Given the description of an element on the screen output the (x, y) to click on. 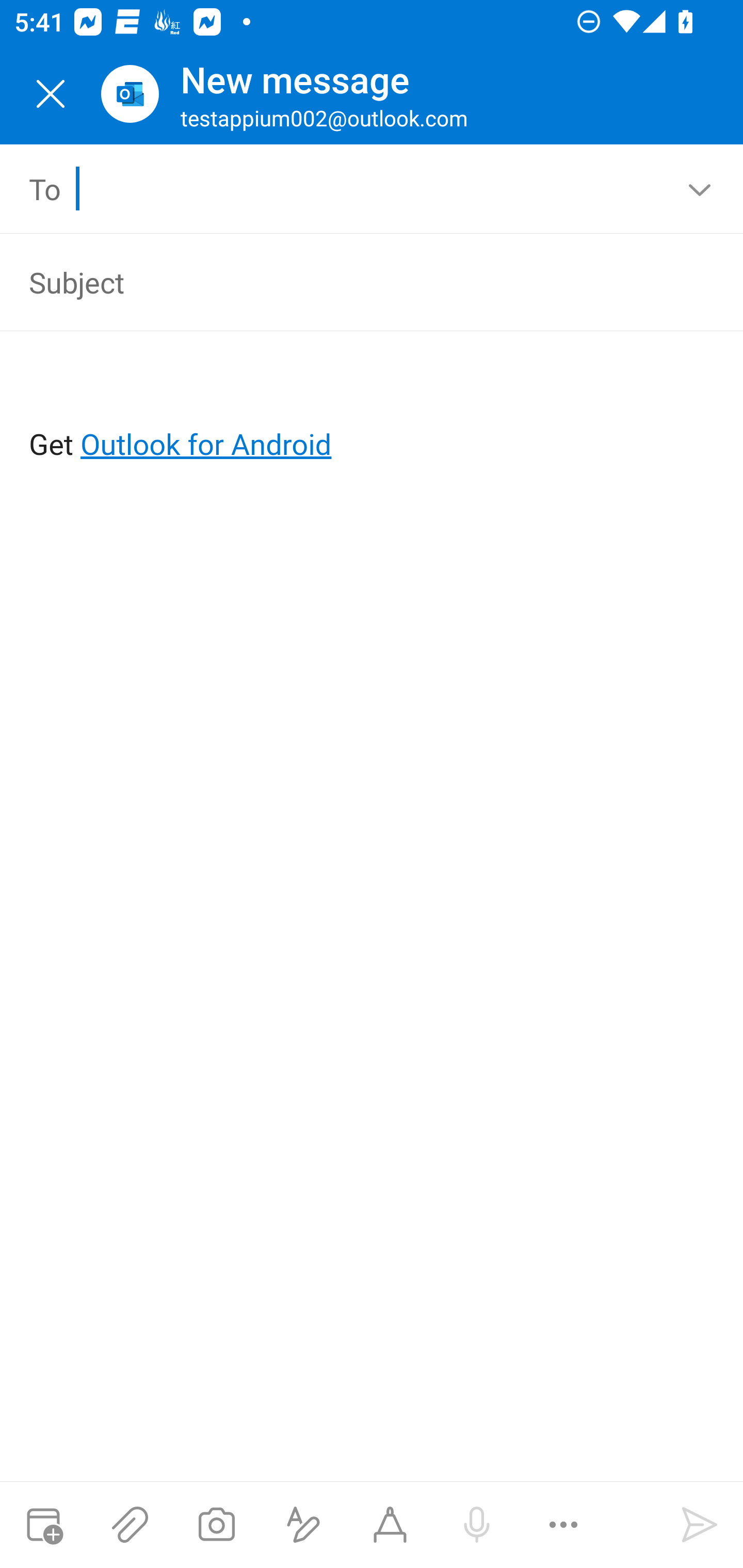
Close (50, 93)
Subject (342, 281)


Get Outlook for Android (372, 411)
Attach meeting (43, 1524)
Attach files (129, 1524)
Take a photo (216, 1524)
Show formatting options (303, 1524)
Start Ink compose (389, 1524)
More options (563, 1524)
Send (699, 1524)
